Given the description of an element on the screen output the (x, y) to click on. 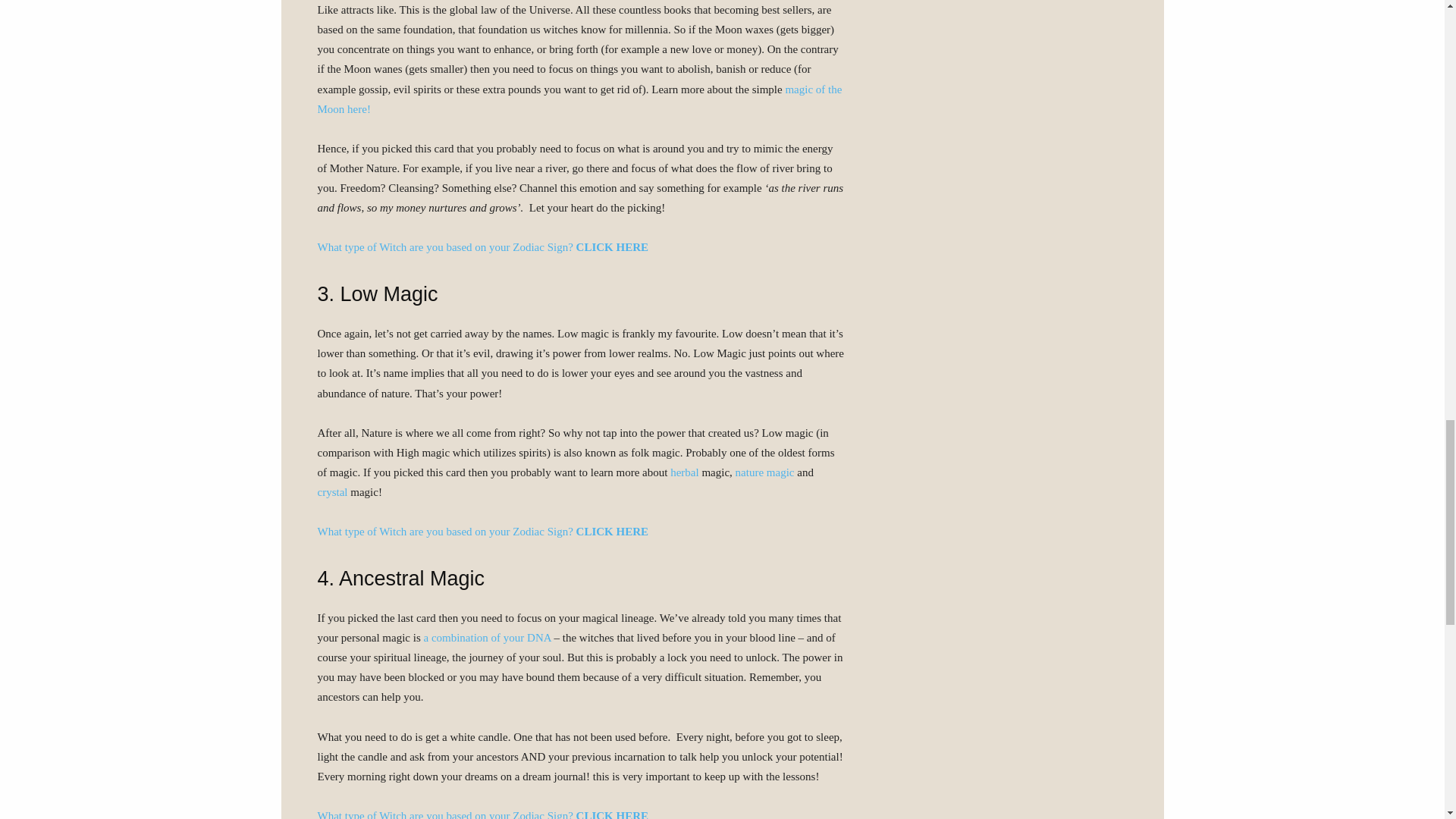
magic of the Moon here! (579, 99)
nature magic (764, 472)
herbal (683, 472)
crystal (332, 491)
a combination of your DNA (486, 637)
